Given the description of an element on the screen output the (x, y) to click on. 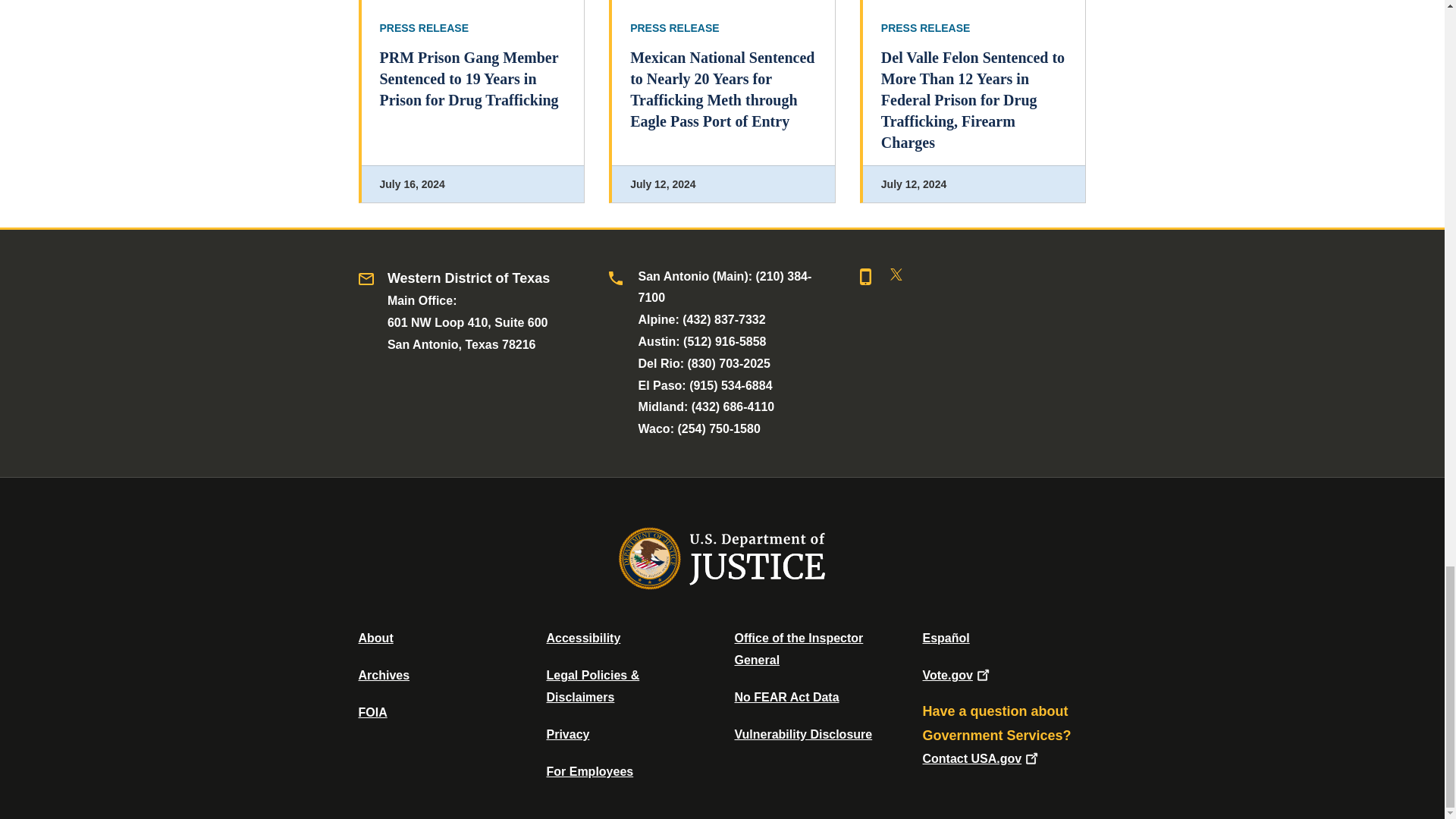
Legal Policies and Disclaimers (592, 686)
Department of Justice Archive (383, 675)
Data Posted Pursuant To The No Fear Act (785, 697)
About DOJ (375, 637)
Office of Information Policy (372, 712)
Accessibility Statement (583, 637)
For Employees (589, 771)
